Given the description of an element on the screen output the (x, y) to click on. 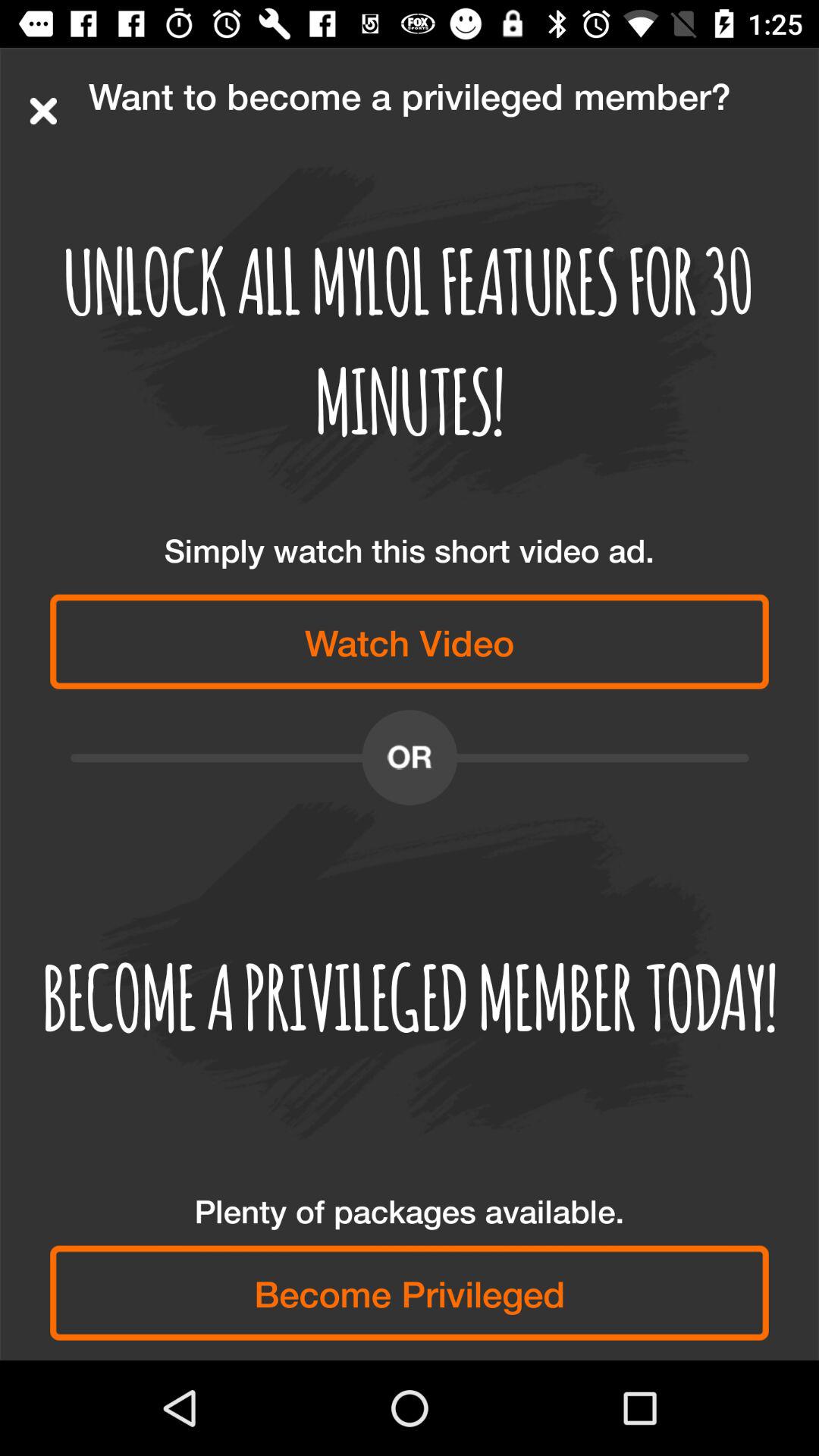
exit (43, 110)
